Given the description of an element on the screen output the (x, y) to click on. 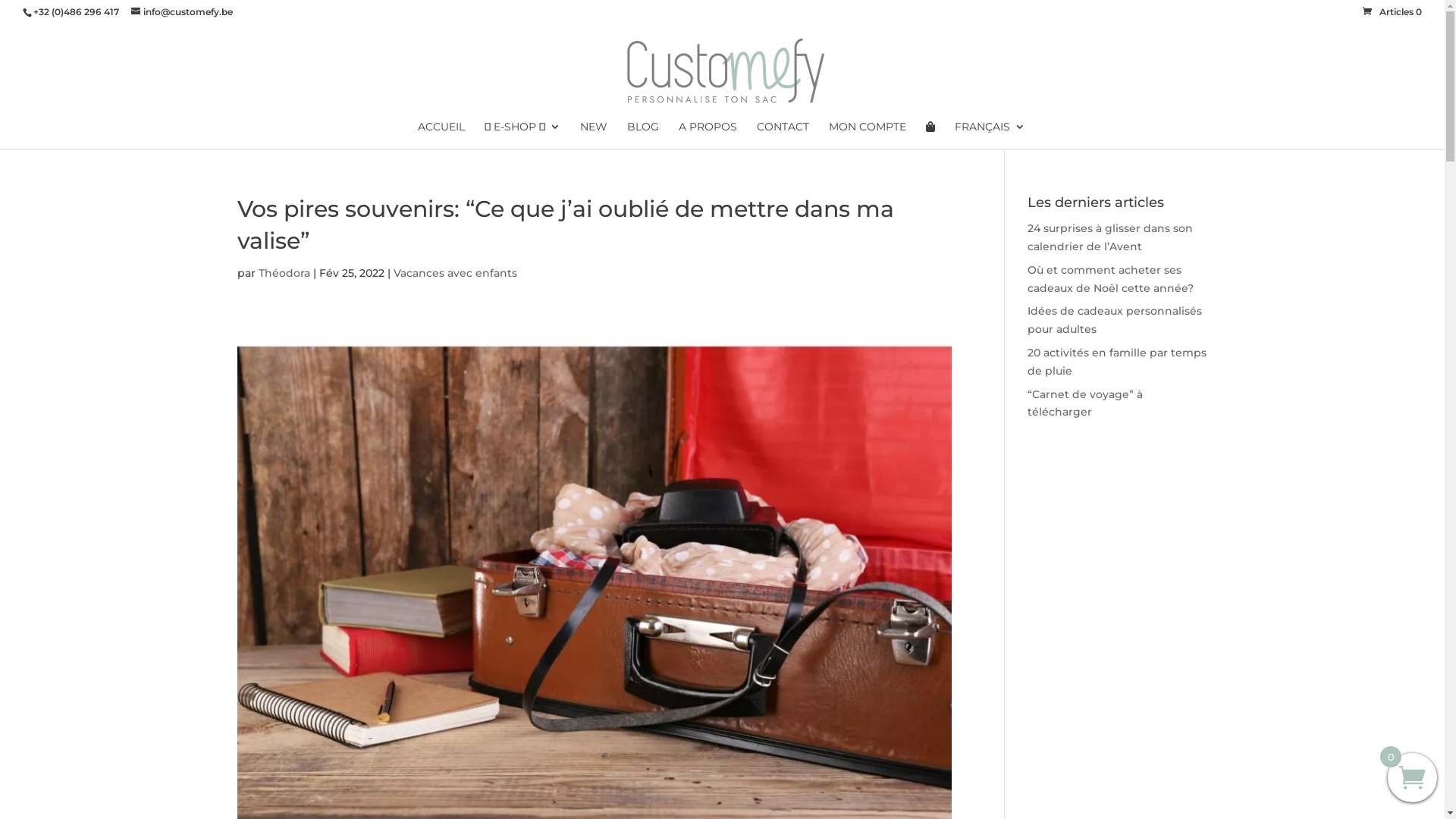
info@customefy.be Element type: text (181, 11)
ACCUEIL Element type: text (440, 135)
Vacances avec enfants Element type: text (454, 272)
Articles 0 Element type: text (1391, 11)
BLOG Element type: text (642, 135)
A PROPOS Element type: text (707, 135)
CONTACT Element type: text (782, 135)
MON COMPTE Element type: text (867, 135)
NEW Element type: text (593, 135)
